Given the description of an element on the screen output the (x, y) to click on. 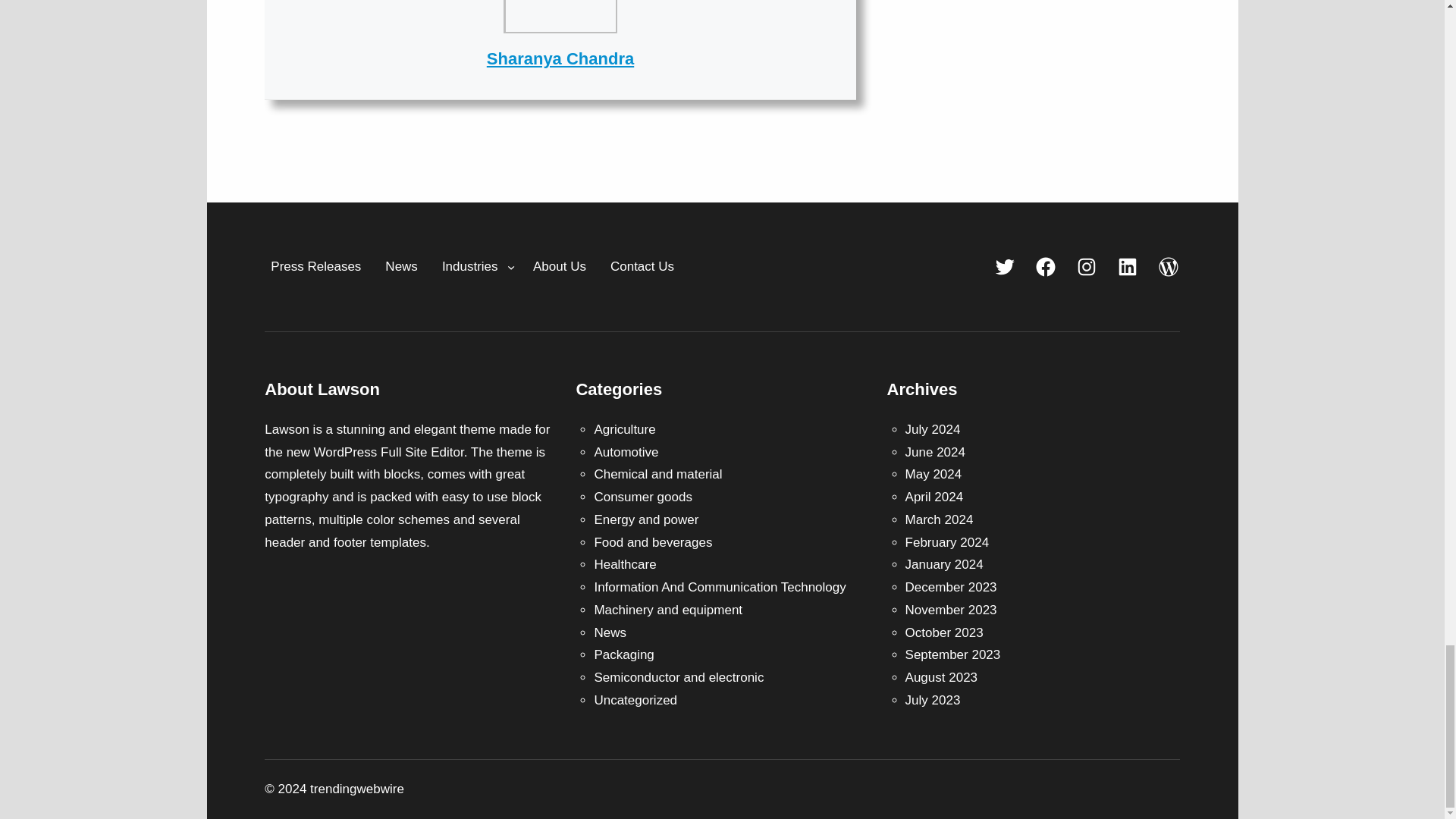
Sharanya Chandra (559, 58)
